Given the description of an element on the screen output the (x, y) to click on. 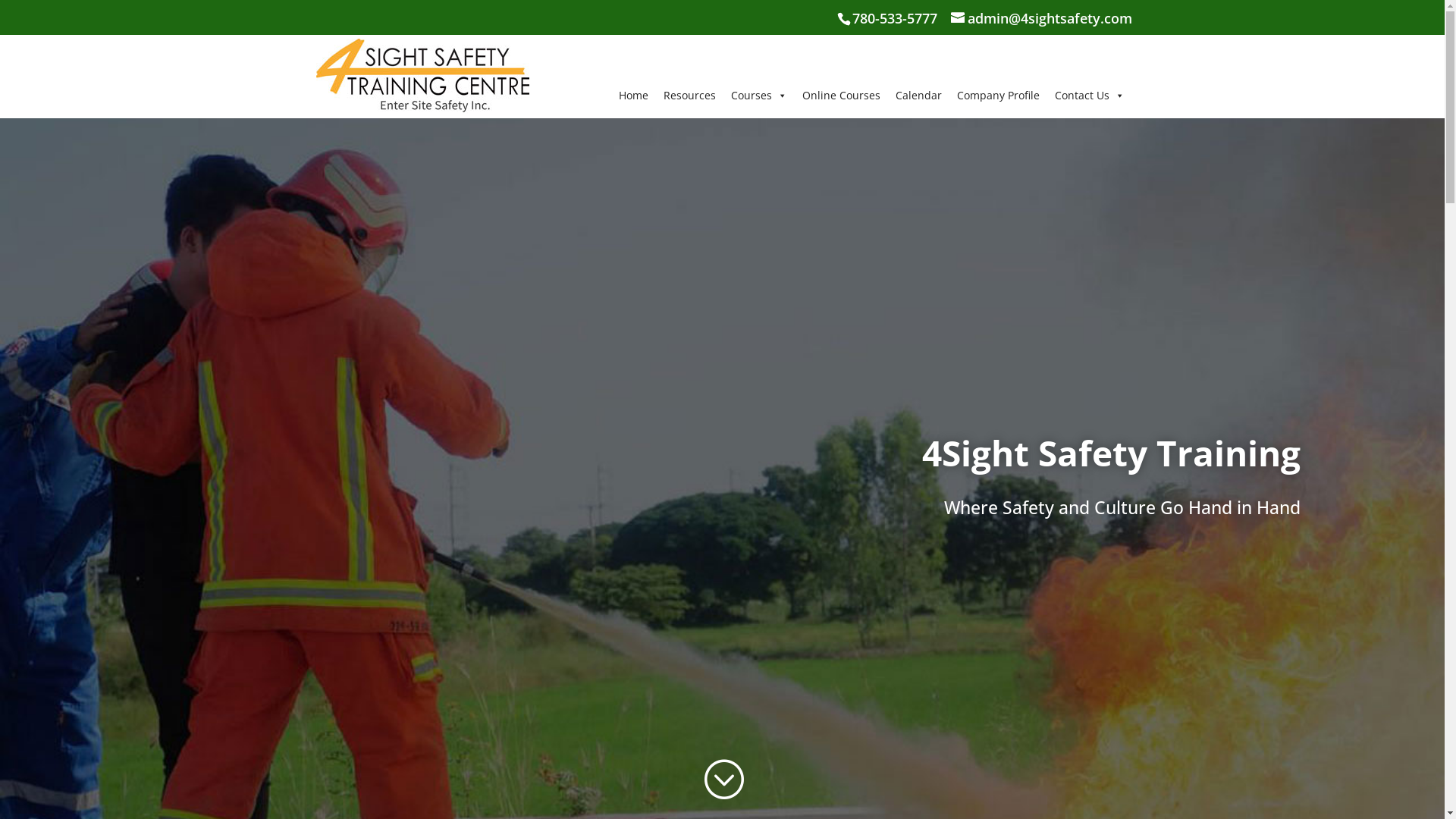
Courses Element type: text (758, 95)
Home Element type: text (633, 95)
Company Profile Element type: text (998, 95)
Calendar Element type: text (917, 95)
Resources Element type: text (688, 95)
admin@4sightsafety.com Element type: text (1041, 18)
Online Courses Element type: text (841, 95)
; Element type: text (721, 779)
Contact Us Element type: text (1088, 95)
